Given the description of an element on the screen output the (x, y) to click on. 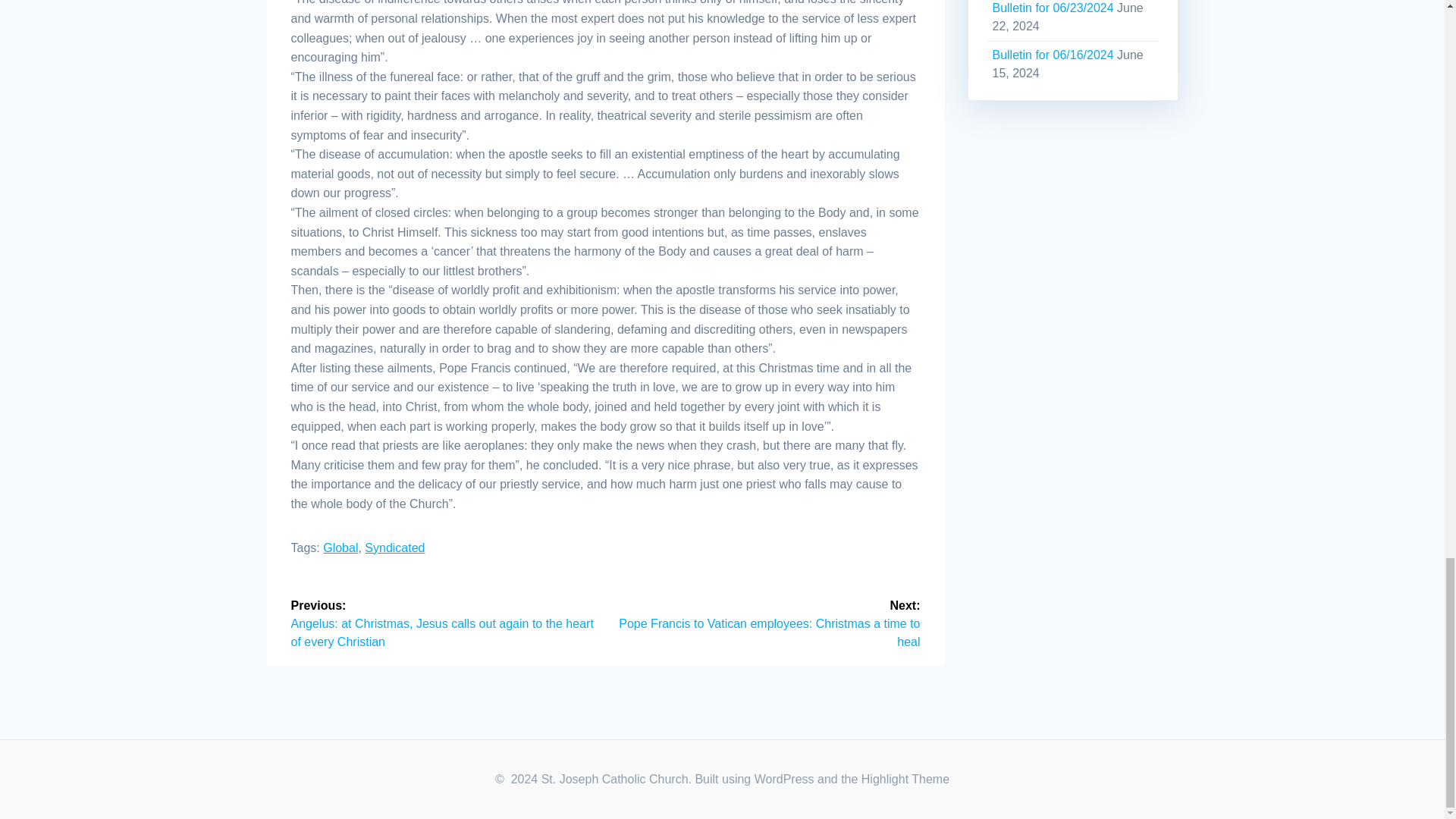
Global (340, 547)
Syndicated (395, 547)
